Given the description of an element on the screen output the (x, y) to click on. 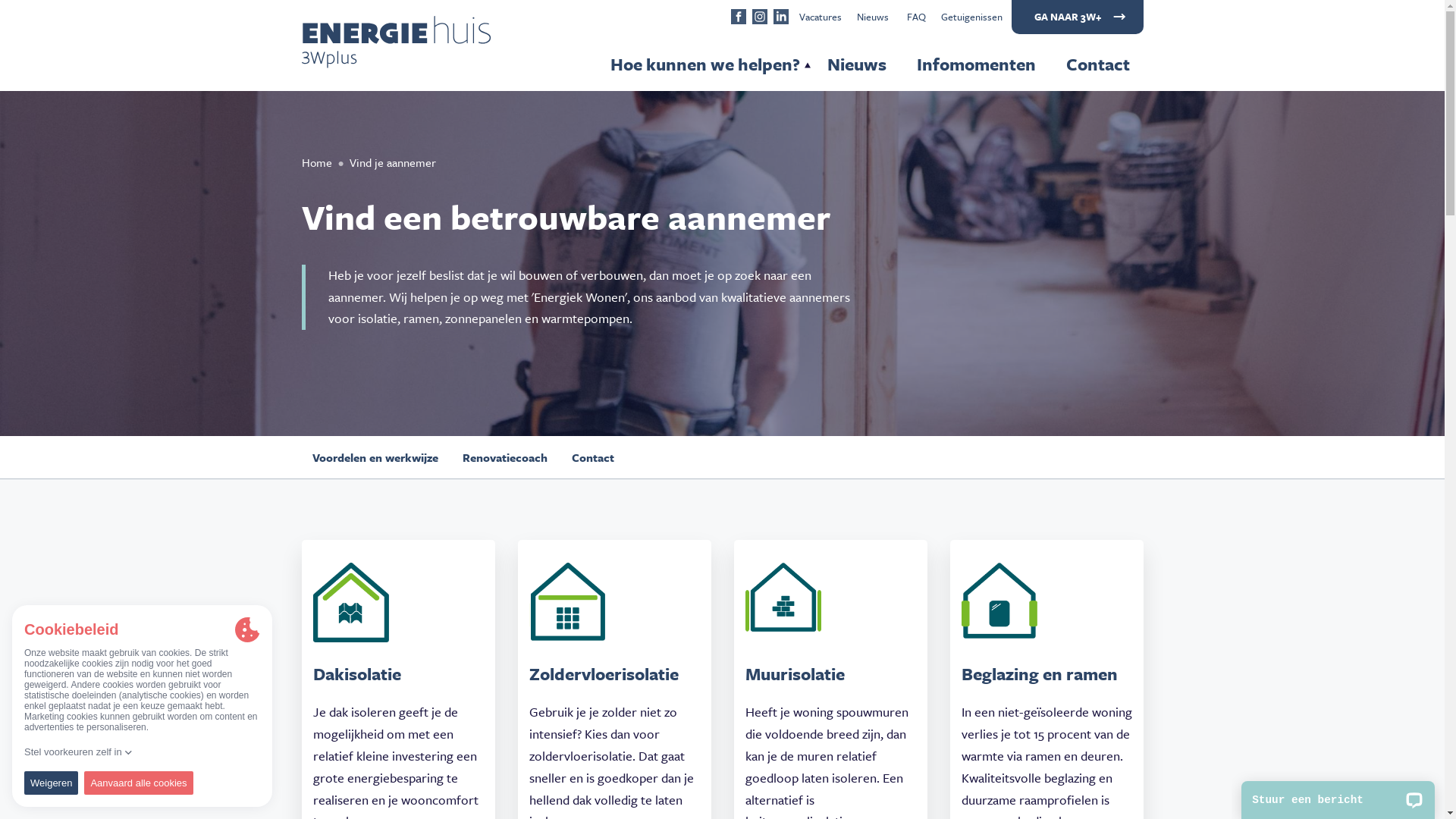
Shape Created with Sketch. Element type: text (738, 18)
Infomomenten Element type: text (975, 63)
FAQ Element type: text (915, 16)
Voordelen en werkwijze Element type: text (374, 457)
Shape Created with Sketch. Element type: text (759, 18)
Hoe kunnen we helpen? Element type: text (704, 63)
Contact Element type: text (592, 457)
Renovatiecoach Element type: text (504, 457)
Home Element type: text (318, 161)
Nieuws Element type: text (872, 16)
Overslaan en naar de inhoud gaan Element type: text (0, 0)
Contact Element type: text (1097, 63)
Nieuws Element type: text (855, 63)
Vacatures Element type: text (820, 16)
Shape Created with Sketch. Element type: text (780, 18)
Getuigenissen Element type: text (970, 16)
GA NAAR 3W+ Element type: text (1077, 17)
